Given the description of an element on the screen output the (x, y) to click on. 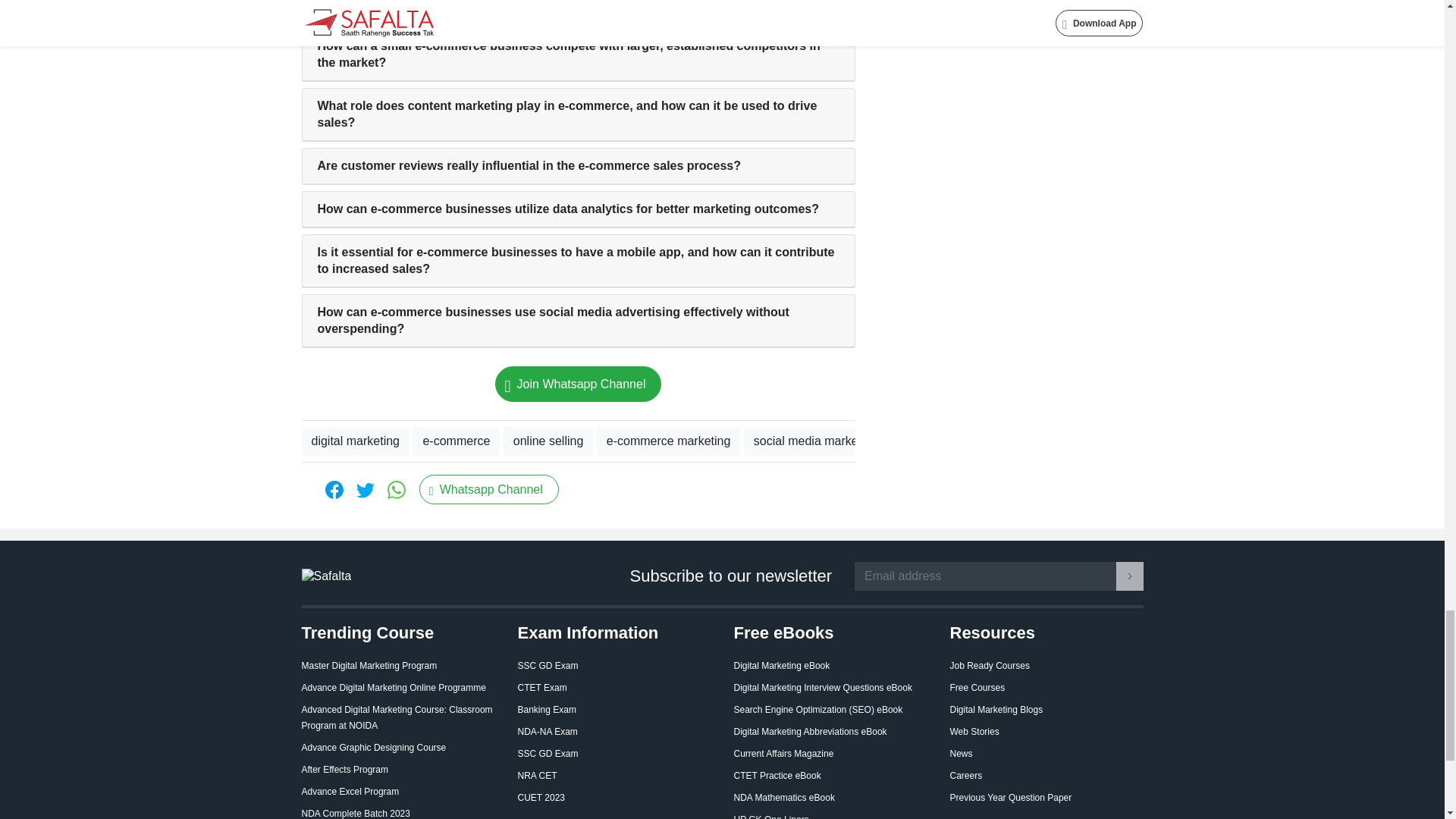
Join Whatsapp Channel (578, 384)
follow our whatsapp channel (489, 489)
digital marketing (355, 440)
follow our whatsapp channel (578, 384)
